Given the description of an element on the screen output the (x, y) to click on. 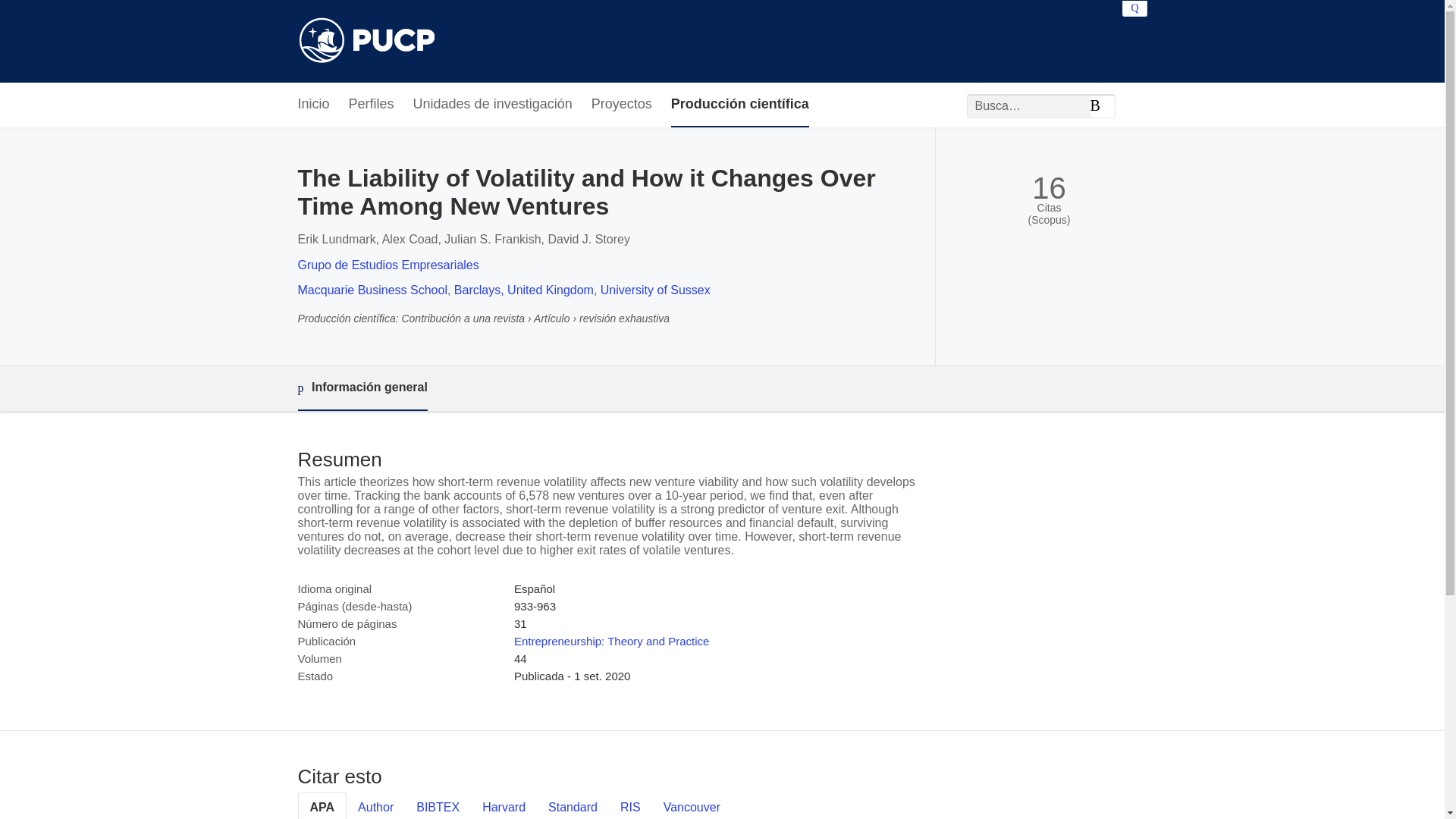
Perfiles (371, 104)
University of Sussex (654, 289)
Barclays, United Kingdom (524, 289)
Entrepreneurship: Theory and Practice (611, 640)
Proyectos (621, 104)
Grupo de Estudios Empresariales (388, 264)
Macquarie Business School (371, 289)
